Given the description of an element on the screen output the (x, y) to click on. 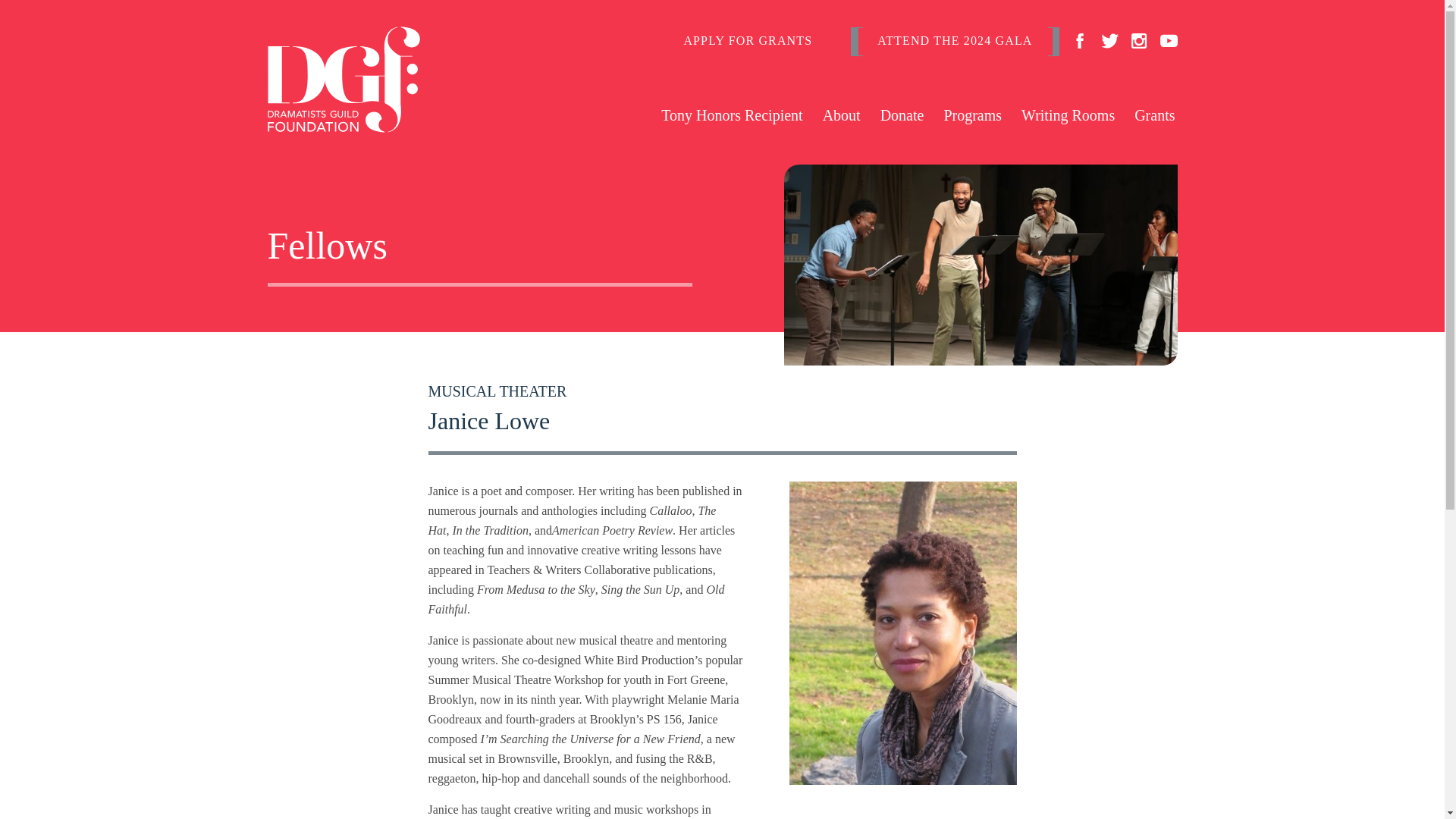
APPLY FOR GRANTS (747, 40)
Instagram (1138, 40)
About (842, 112)
Tony Honors Recipient (732, 112)
Facebook (1078, 40)
Twitter Username (1109, 40)
YouTube (1168, 40)
ATTEND THE 2024 GALA (954, 40)
